Given the description of an element on the screen output the (x, y) to click on. 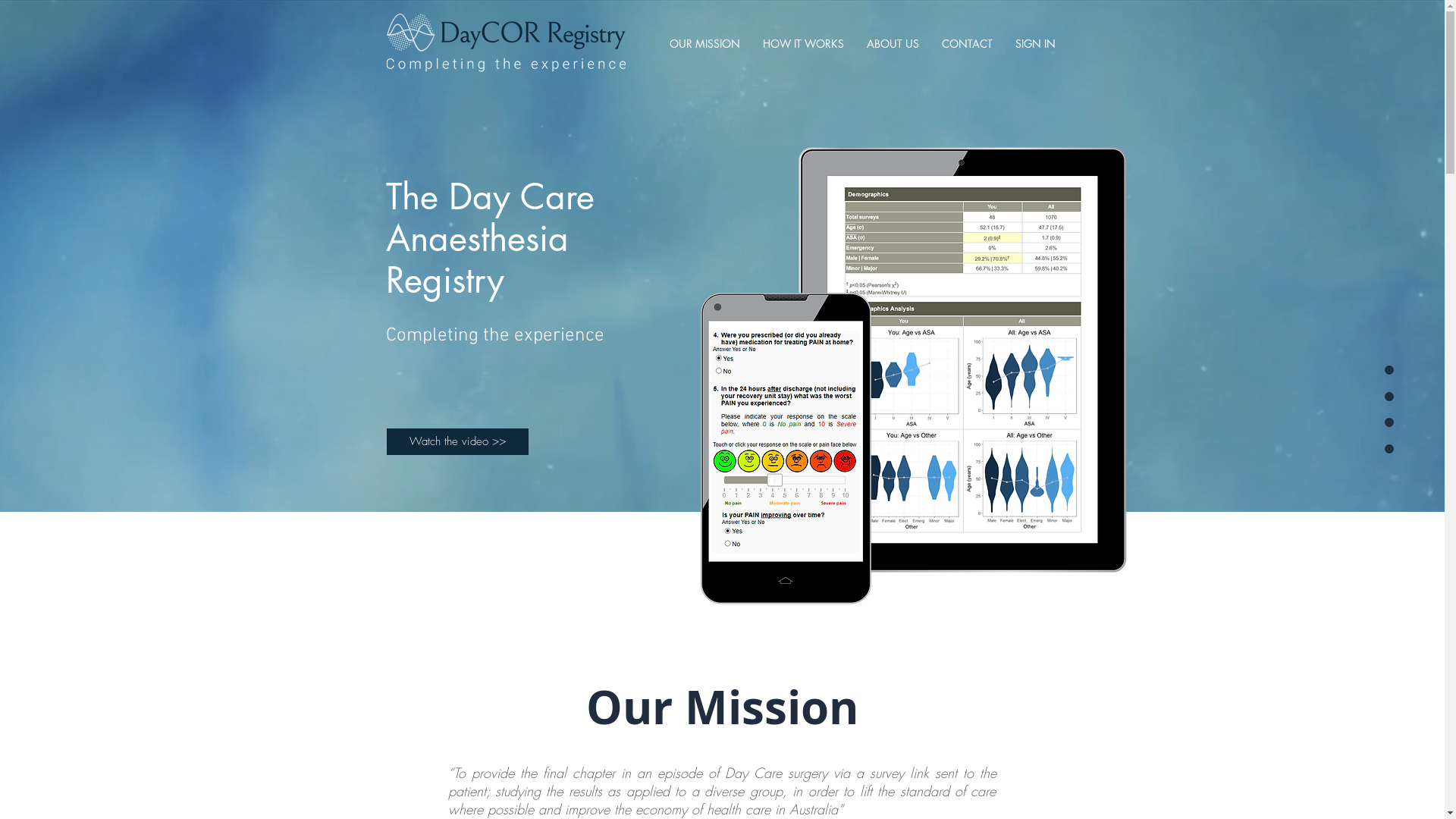
SIGN IN Element type: text (1035, 43)
HOW IT WORKS Element type: text (803, 43)
Watch the video >> Element type: text (457, 441)
ABOUT US Element type: text (892, 43)
CONTACT Element type: text (967, 43)
OUR MISSION Element type: text (704, 43)
